Given the description of an element on the screen output the (x, y) to click on. 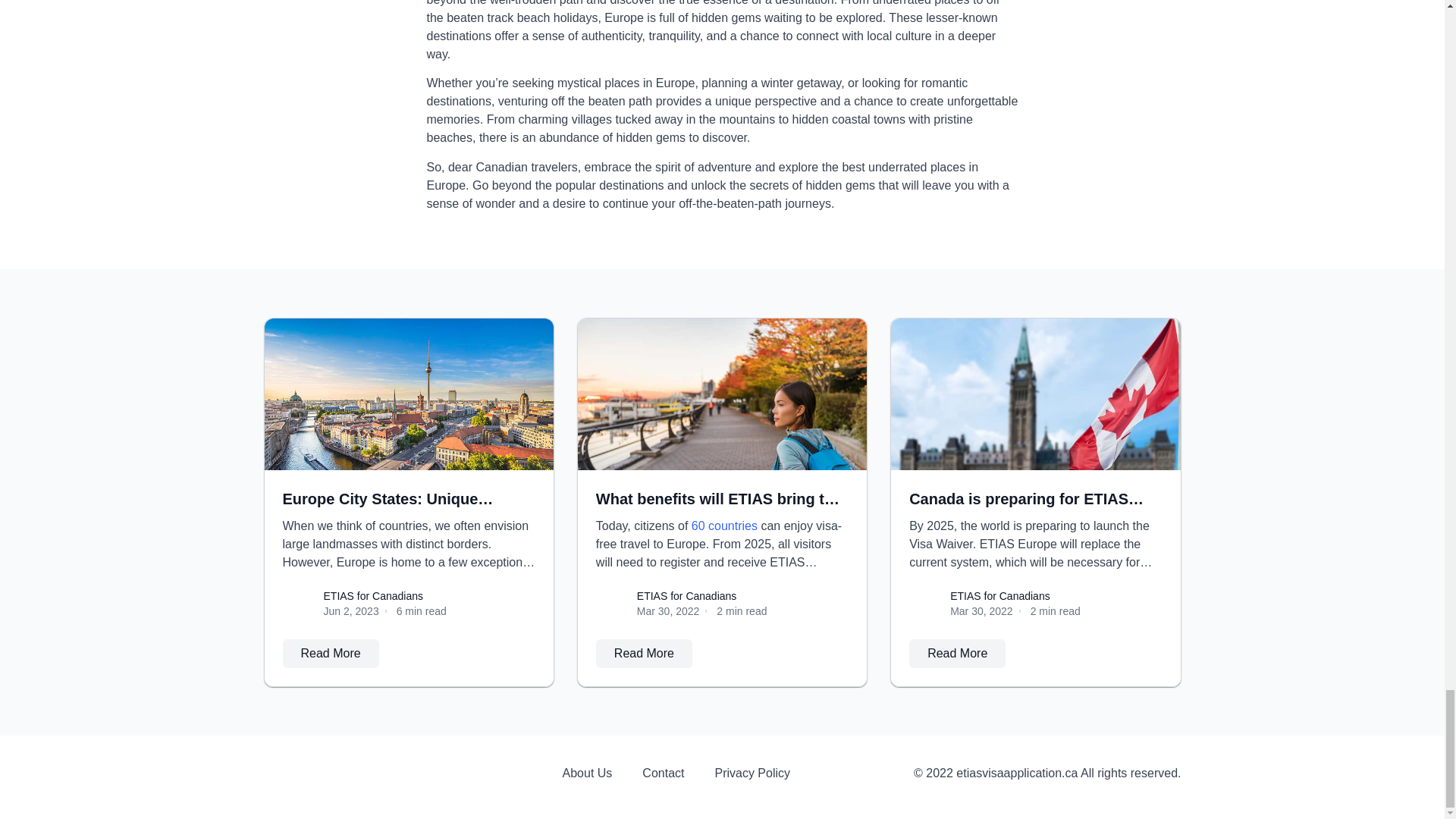
Contact (663, 773)
60 countries (724, 525)
Read More (957, 653)
About Us (587, 773)
Read More (330, 653)
Privacy Policy (752, 773)
Read More (644, 653)
